Given the description of an element on the screen output the (x, y) to click on. 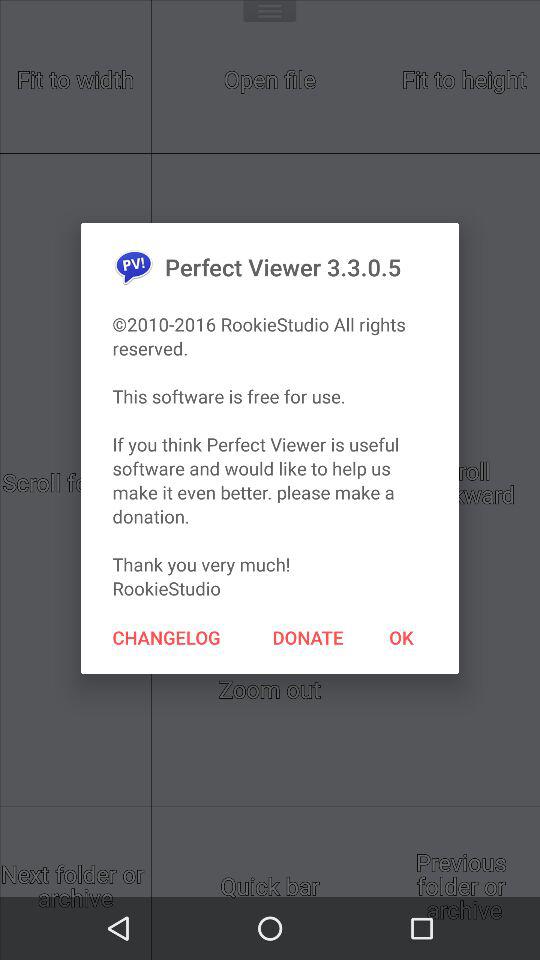
tap the donate item (307, 637)
